Given the description of an element on the screen output the (x, y) to click on. 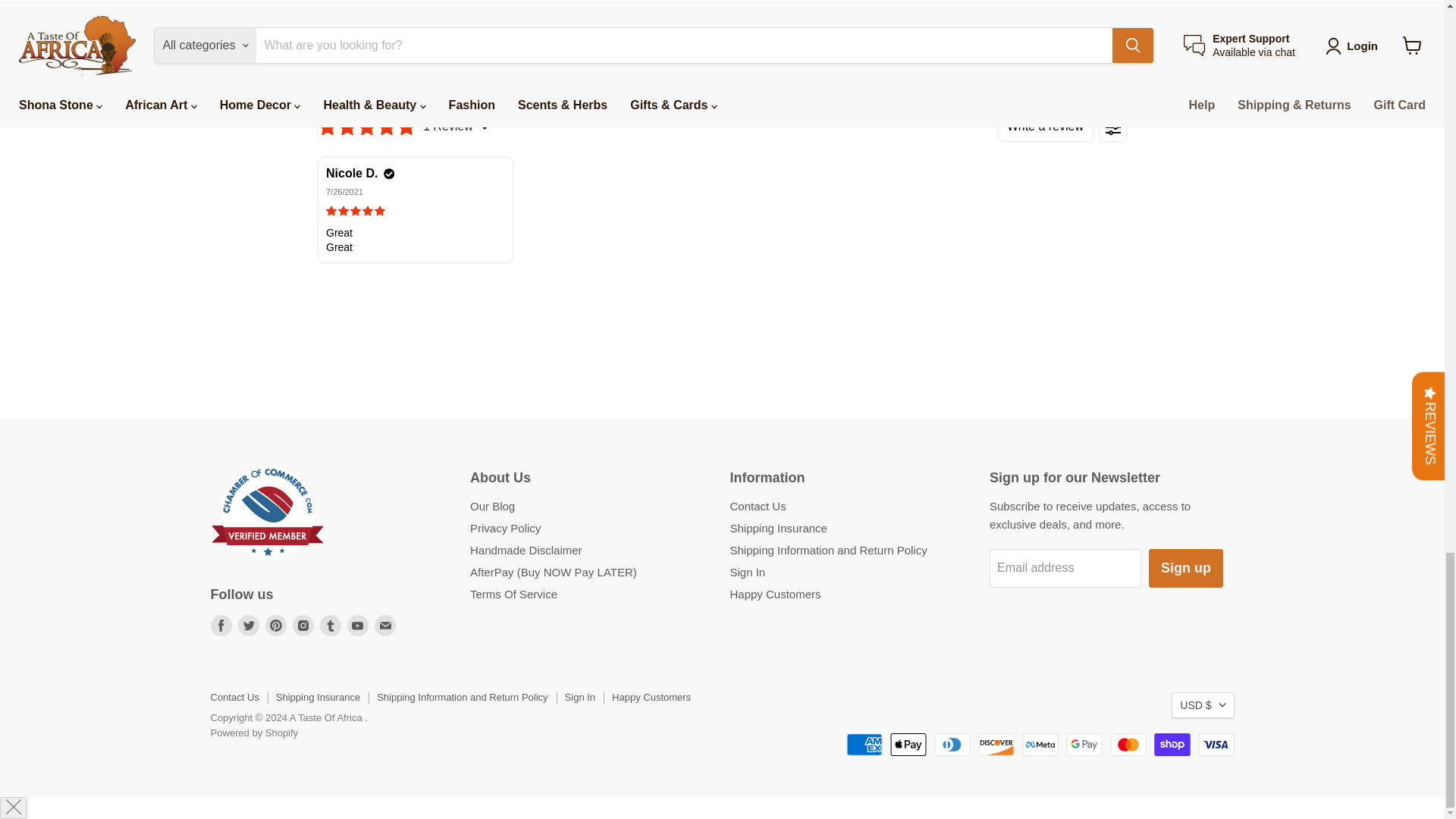
Pinterest (275, 625)
Youtube (357, 625)
Email (385, 625)
Twitter (248, 625)
Facebook (221, 625)
Instagram (303, 625)
Tumblr (330, 625)
